Given the description of an element on the screen output the (x, y) to click on. 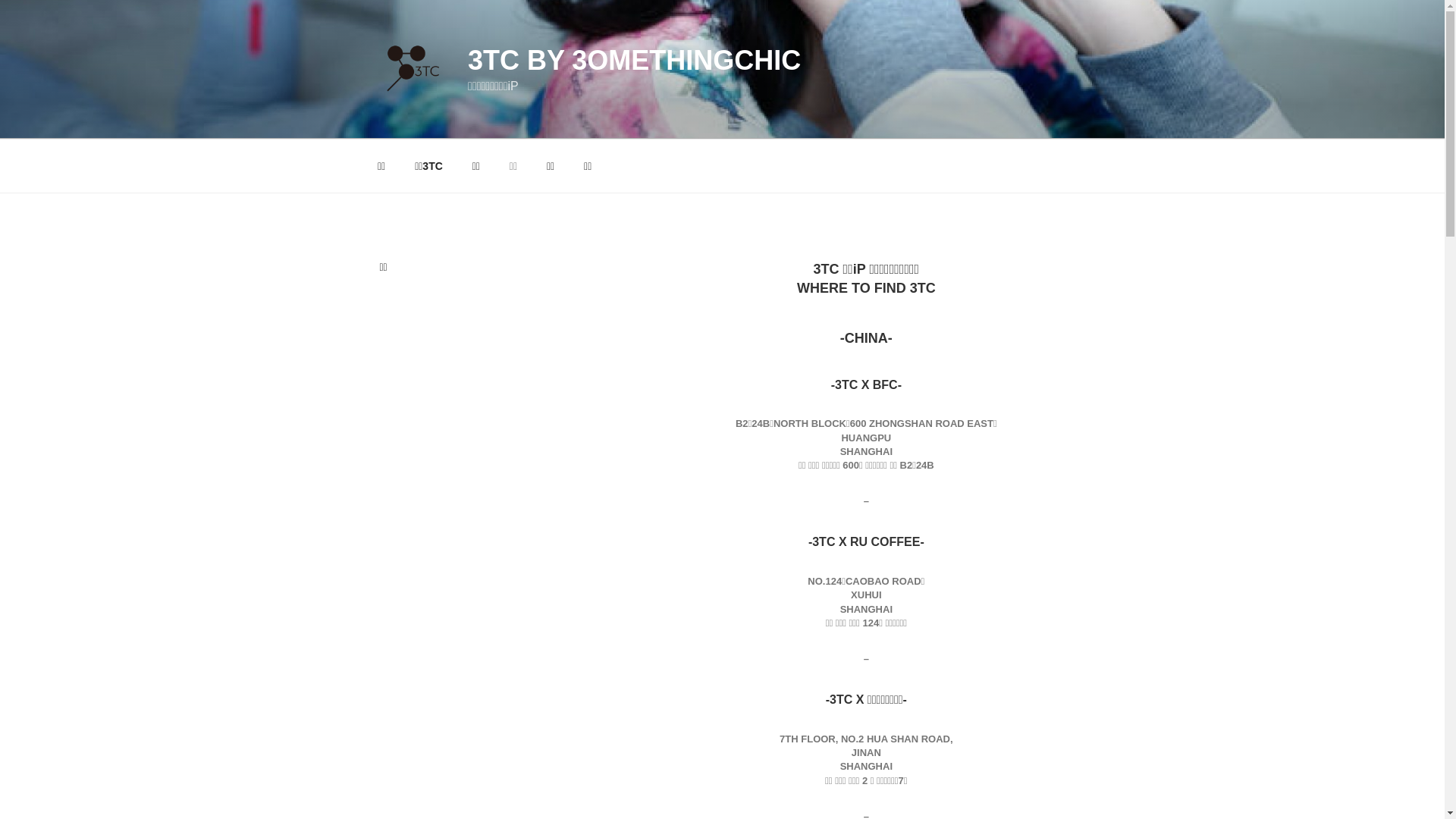
3TC BY 3OMETHINGCHIC Element type: text (633, 59)
